Given the description of an element on the screen output the (x, y) to click on. 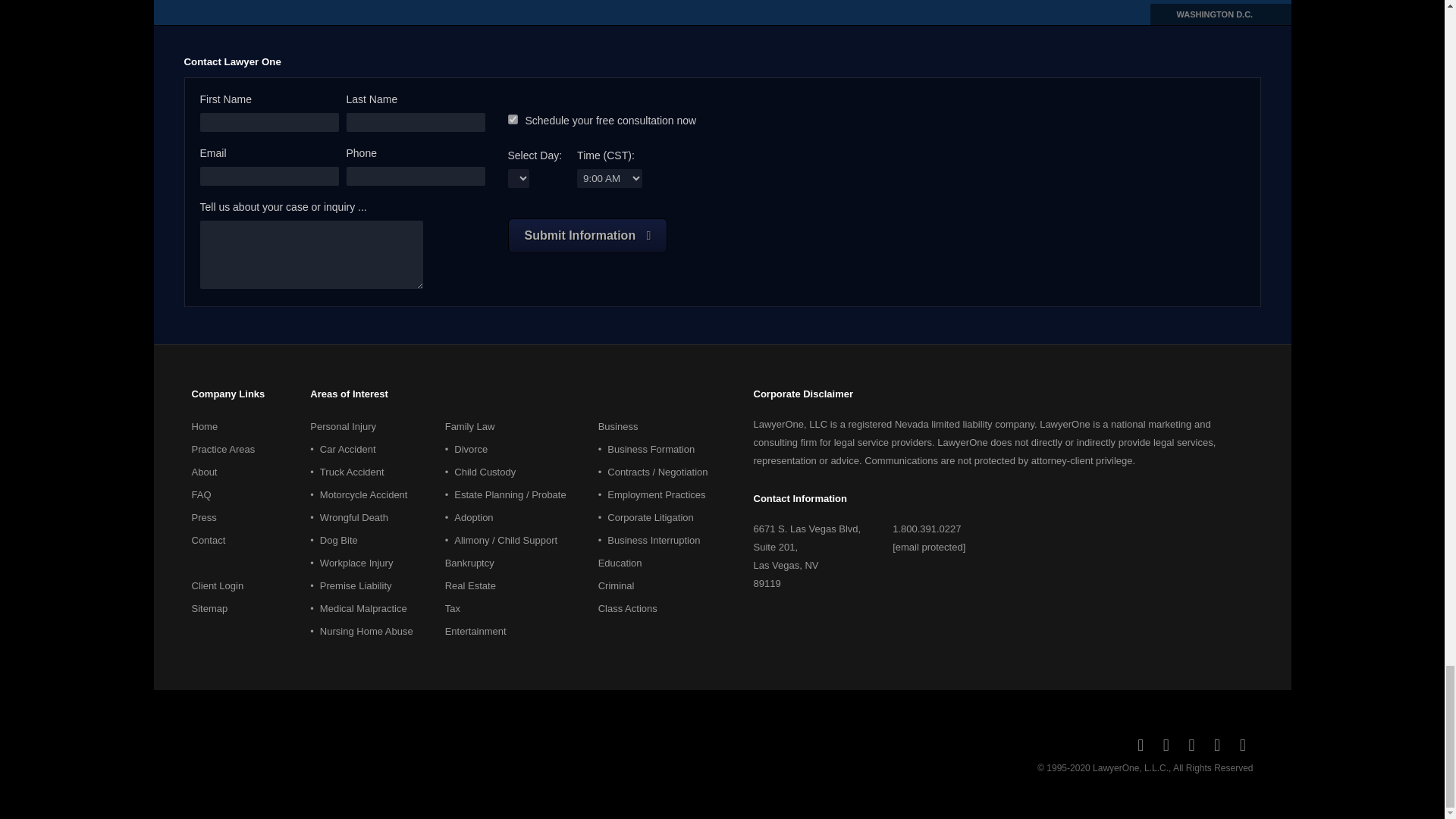
yes (513, 119)
Submit Information (588, 235)
